Given the description of an element on the screen output the (x, y) to click on. 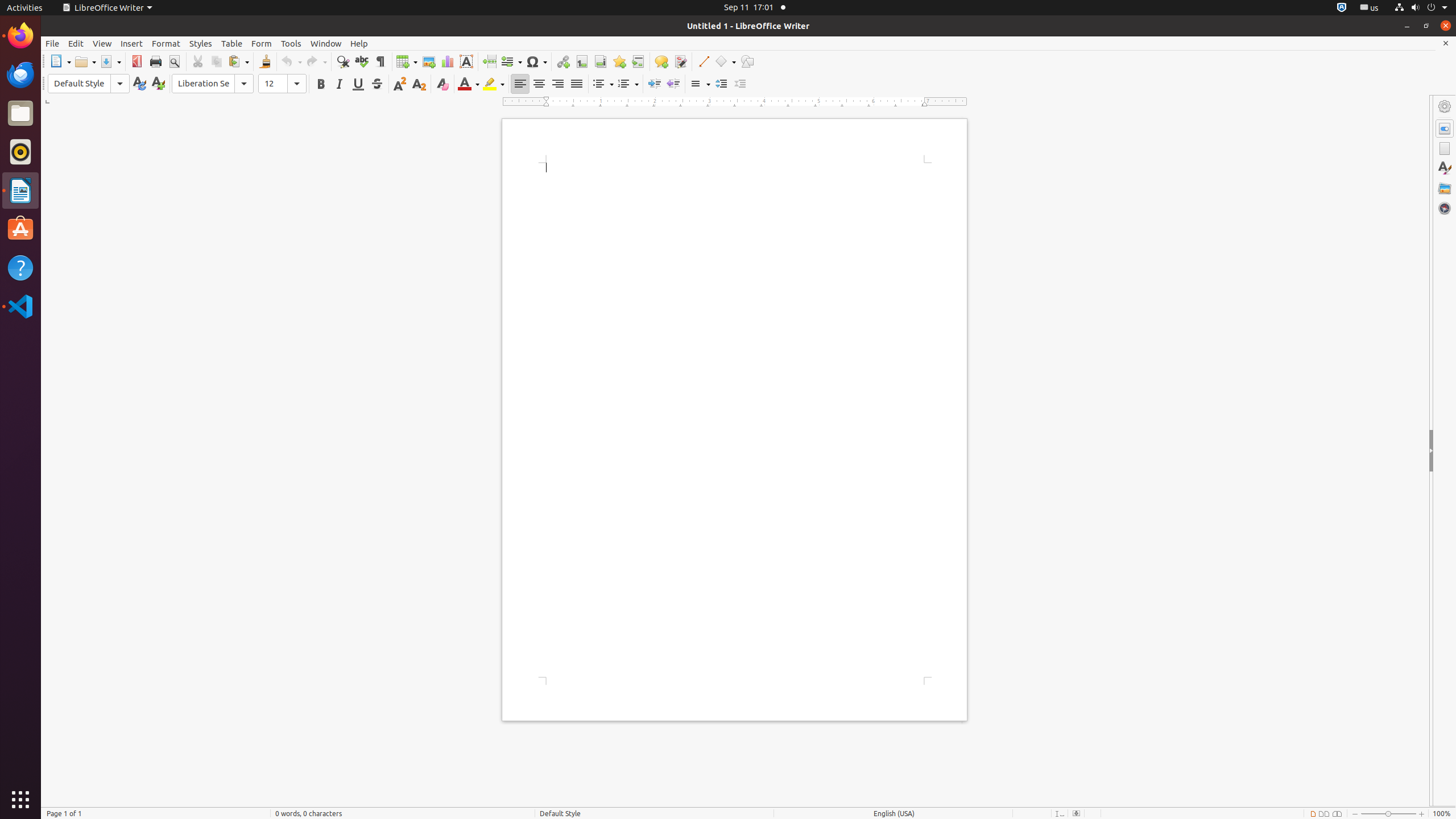
Save Element type: push-button (109, 61)
Redo Element type: push-button (315, 61)
Tools Element type: menu (290, 43)
